Given the description of an element on the screen output the (x, y) to click on. 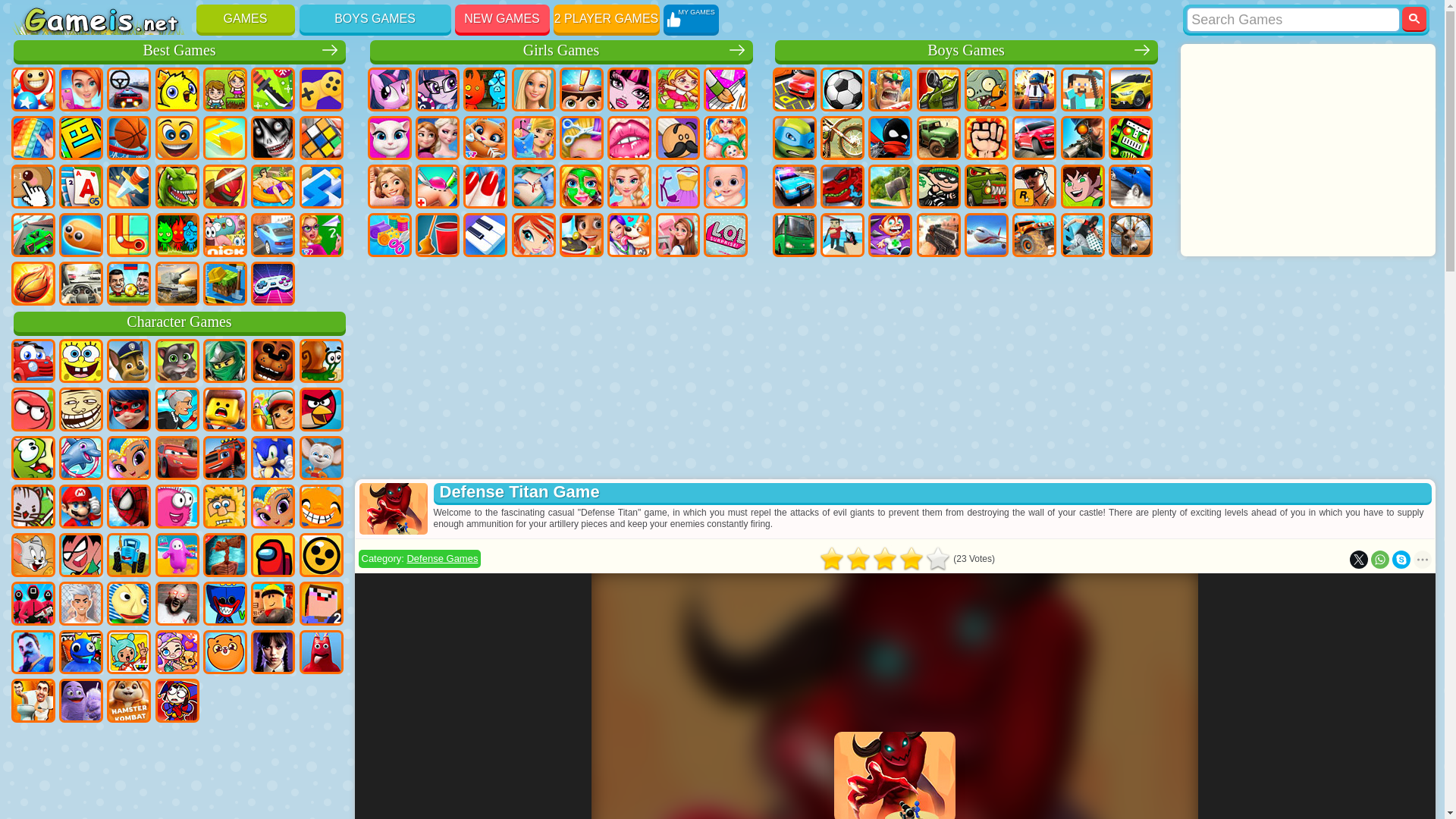
Running (889, 234)
Airplane (986, 234)
Fighting (986, 137)
Football (842, 89)
Car Games (1130, 89)
Tank (938, 89)
Shooting (938, 234)
Parking Games (793, 89)
Motorcycle (842, 137)
GTA (1034, 186)
